Given the description of an element on the screen output the (x, y) to click on. 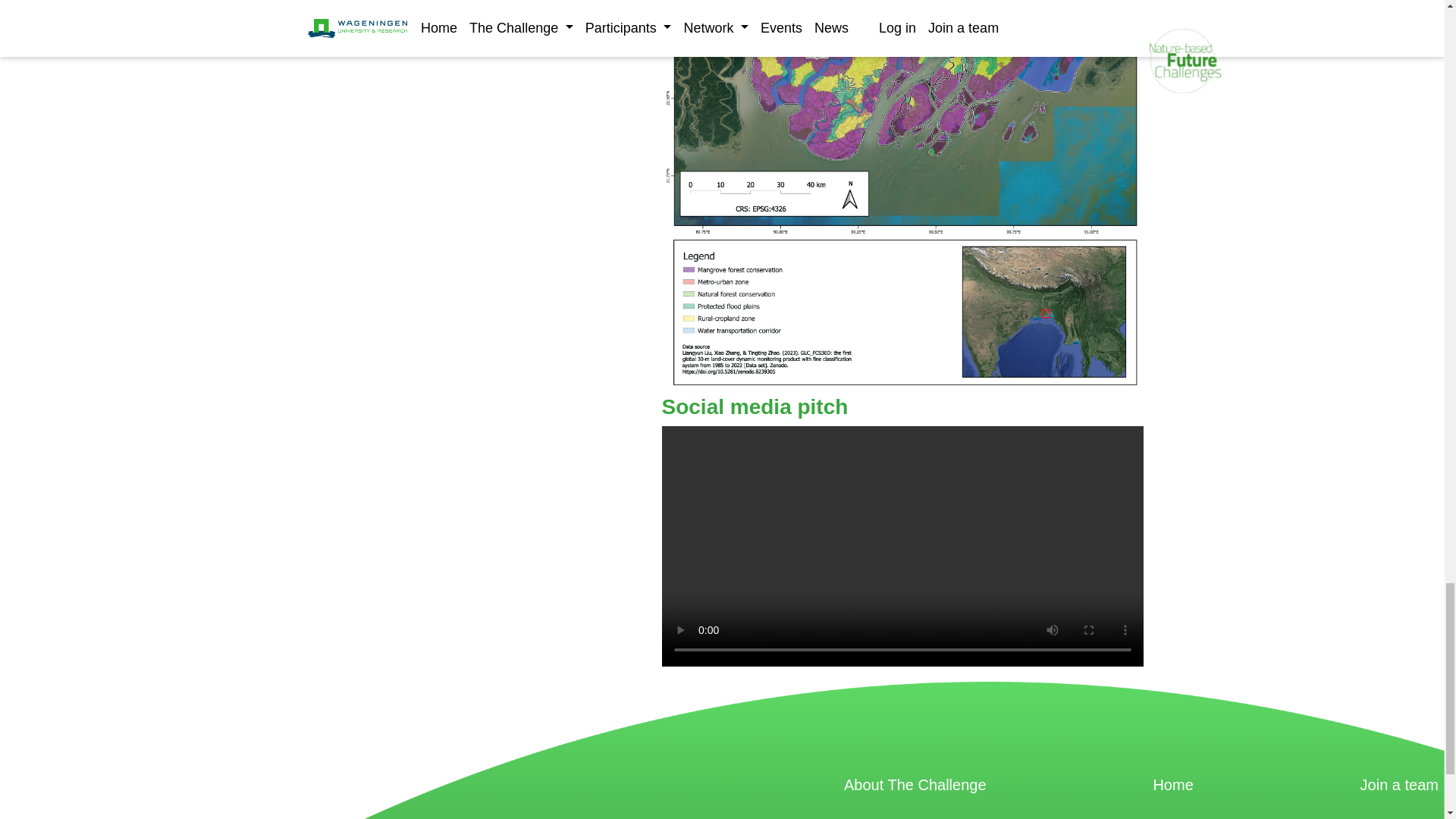
Join a team (1398, 784)
Home (1172, 784)
About The Challenge (915, 784)
